Given the description of an element on the screen output the (x, y) to click on. 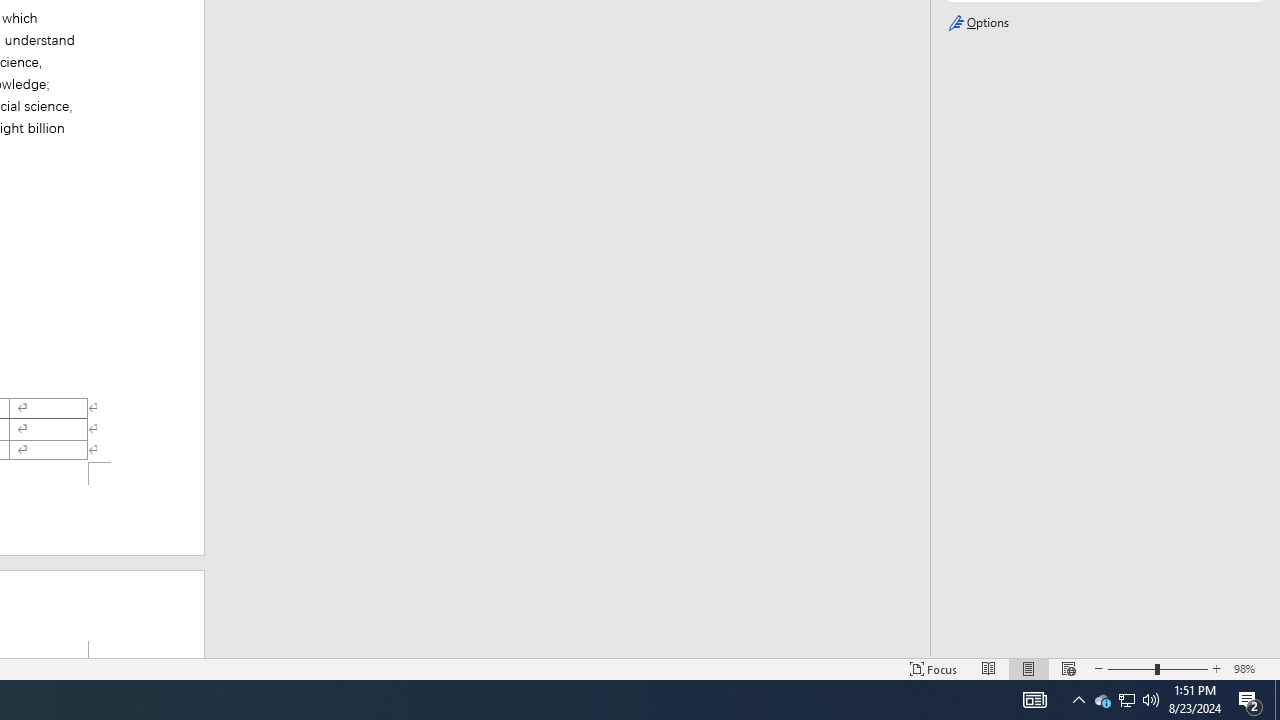
Options (1104, 23)
